Given the description of an element on the screen output the (x, y) to click on. 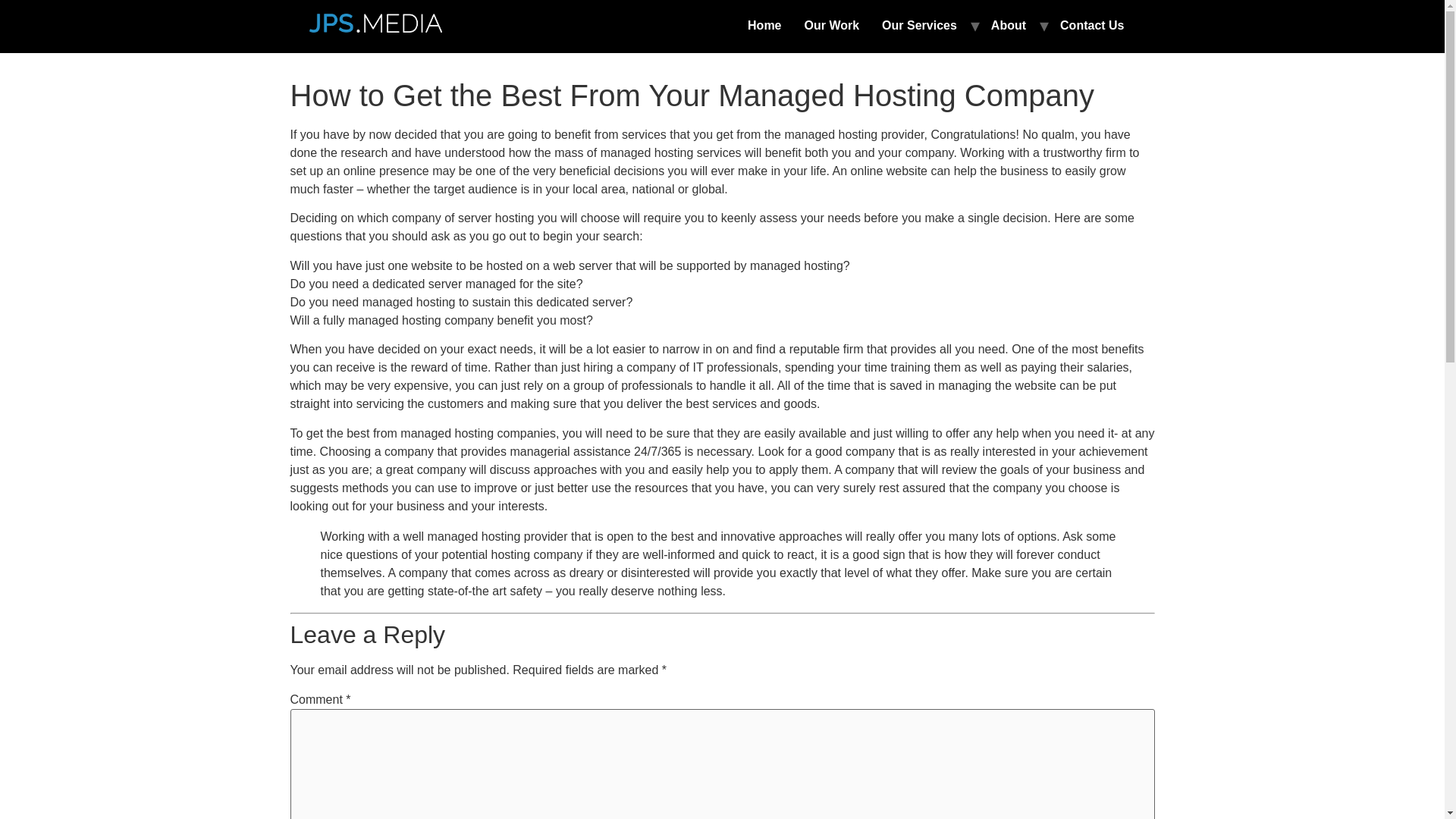
About (1007, 25)
Our Services (919, 25)
Home (764, 25)
Contact Us (1091, 25)
Our Work (831, 25)
